Given the description of an element on the screen output the (x, y) to click on. 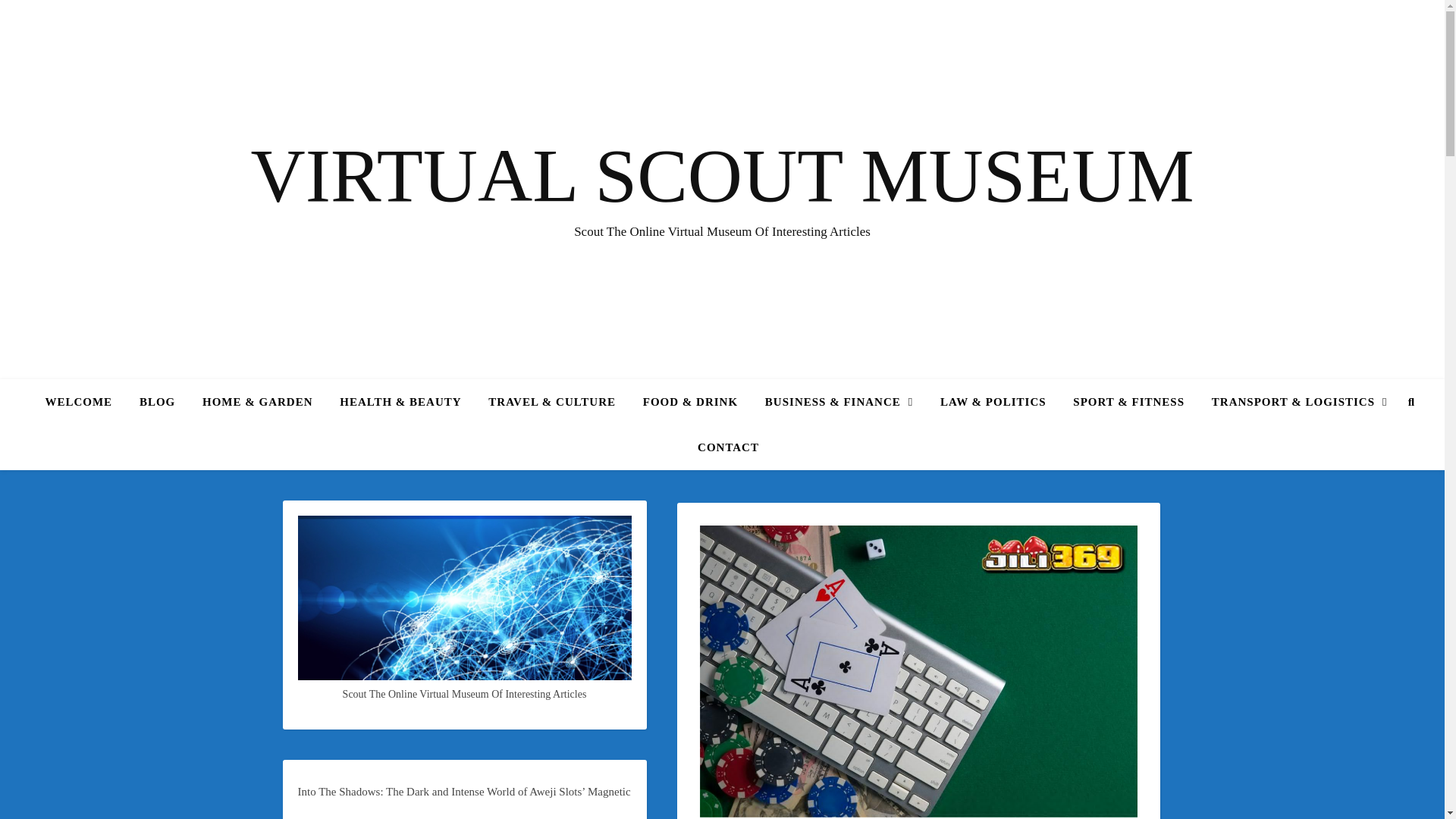
WELCOME (84, 402)
CONTACT (721, 447)
BLOG (157, 402)
